Given the description of an element on the screen output the (x, y) to click on. 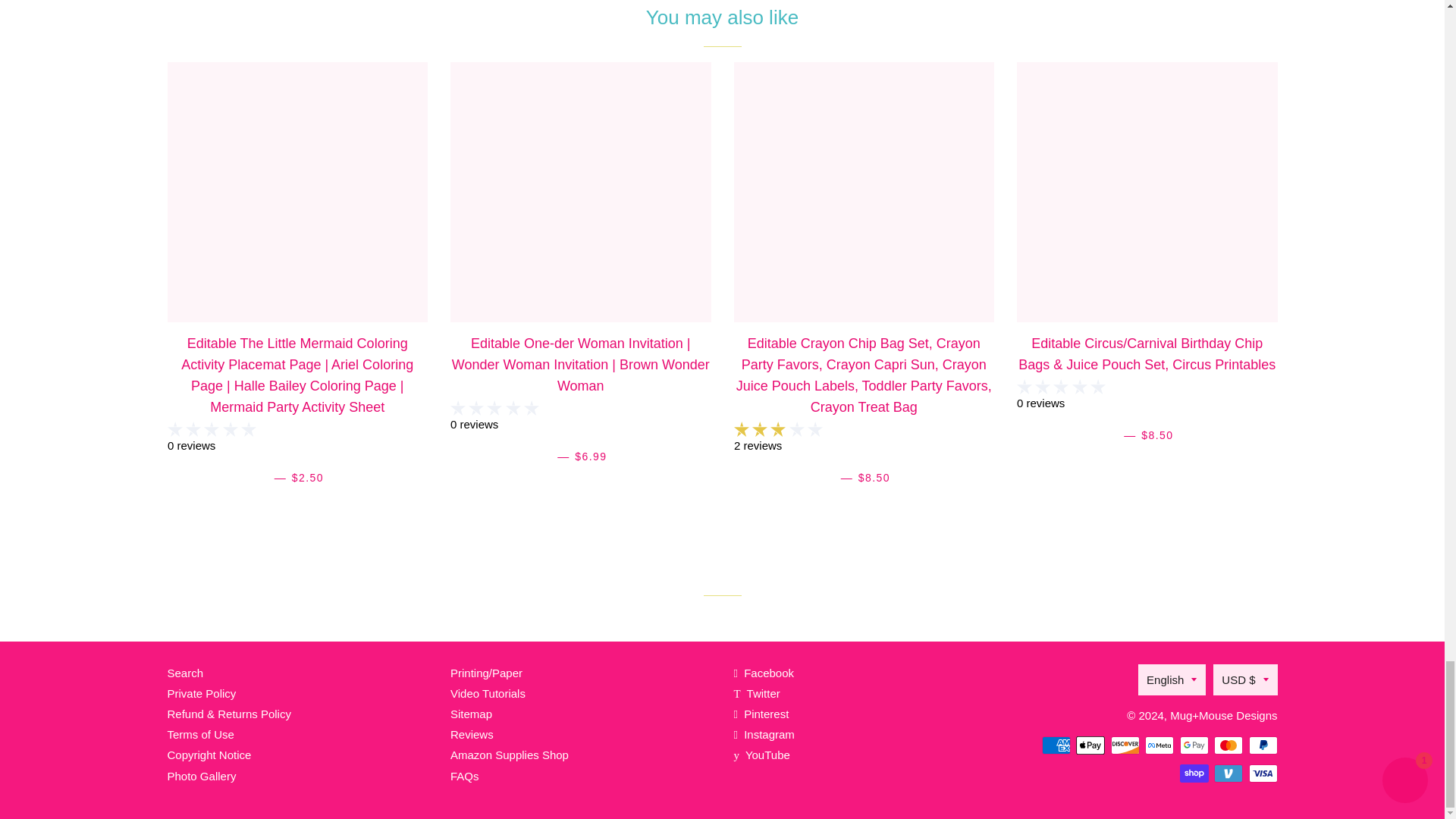
Apple Pay (1090, 745)
Meta Pay (1158, 745)
Mastercard (1228, 745)
Discover (1123, 745)
PayPal (1261, 745)
Visa (1261, 773)
Google Pay (1193, 745)
Venmo (1228, 773)
Shop Pay (1193, 773)
American Express (1056, 745)
